Given the description of an element on the screen output the (x, y) to click on. 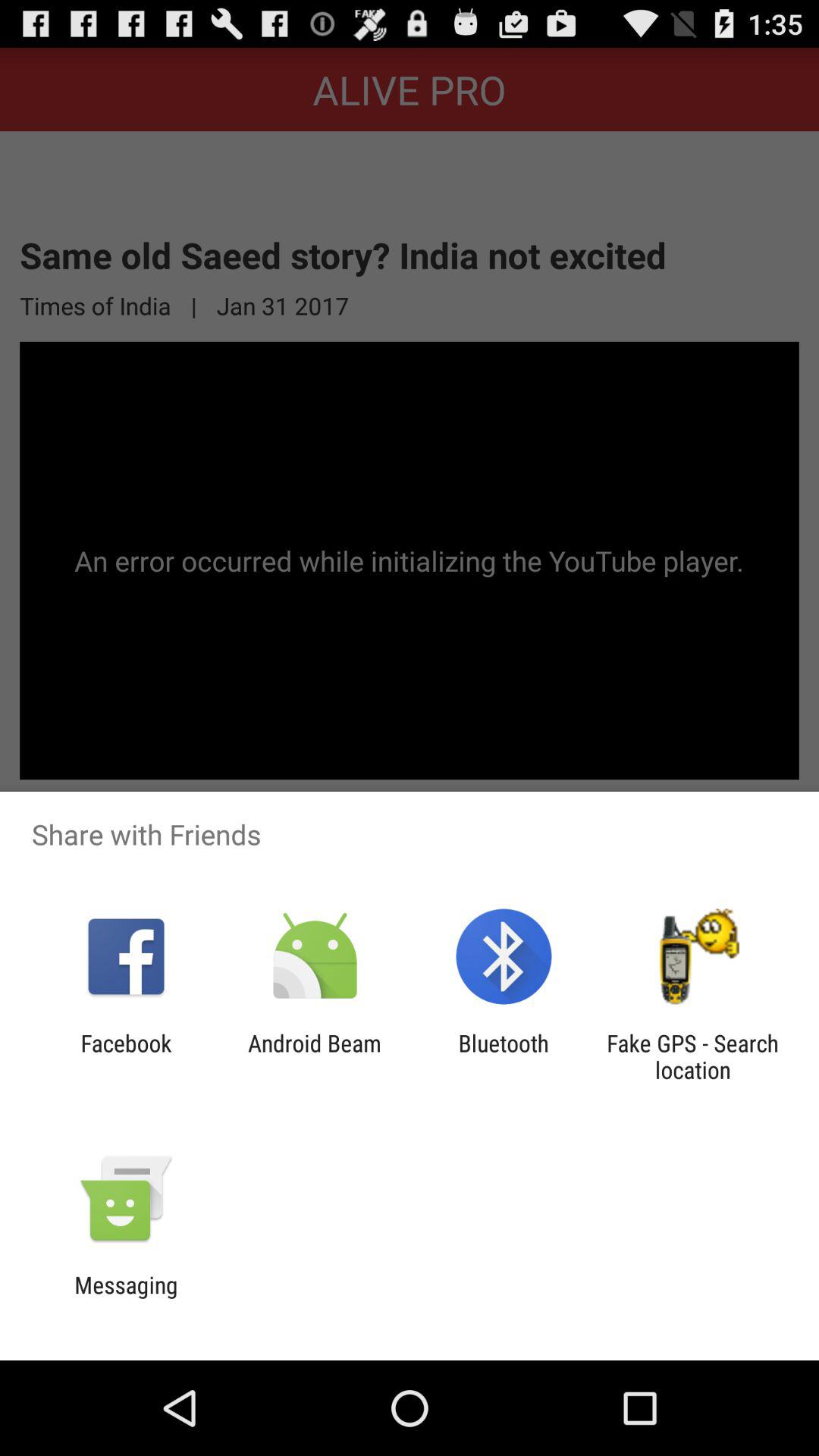
flip to android beam icon (314, 1056)
